Given the description of an element on the screen output the (x, y) to click on. 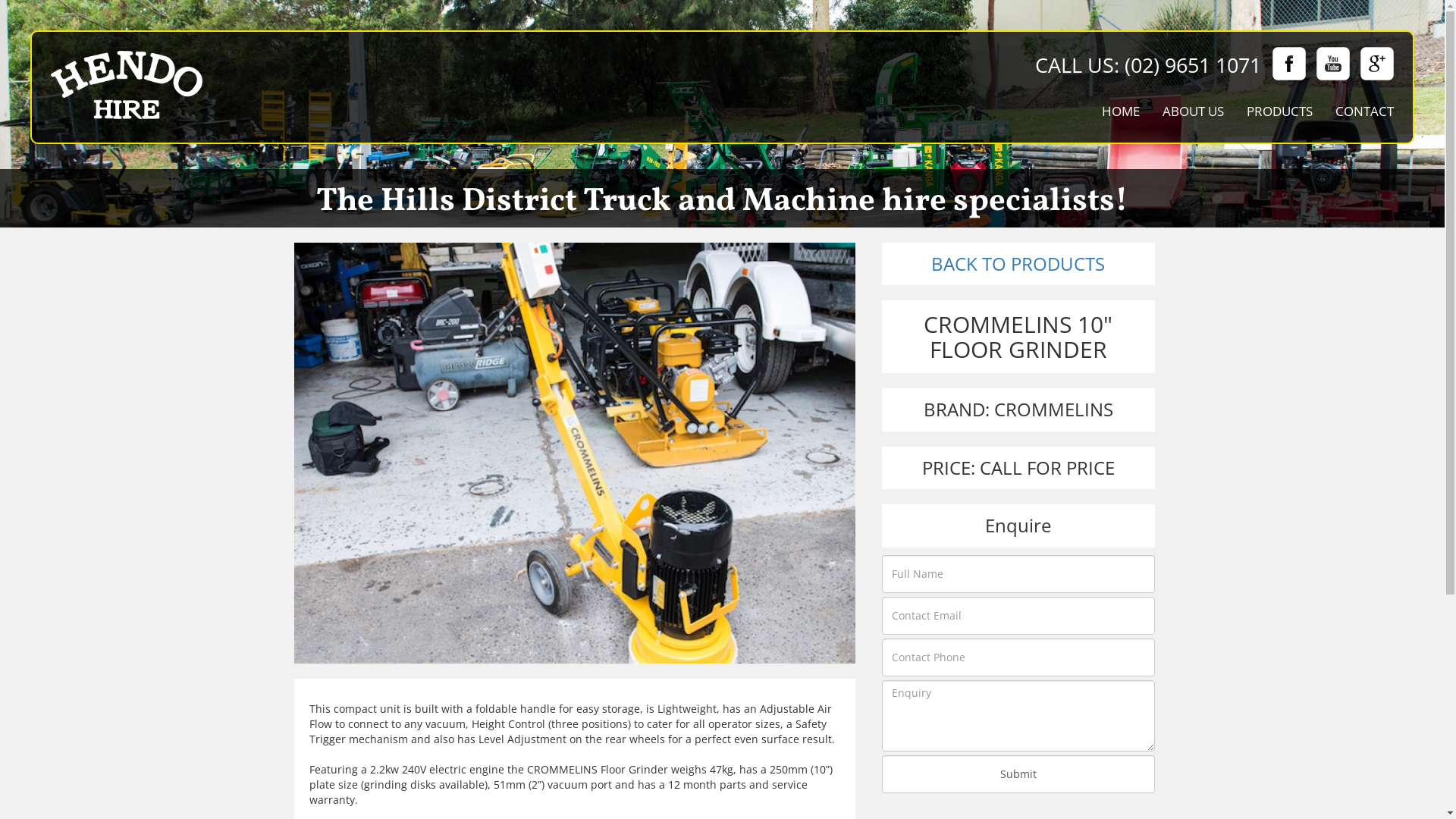
CONTACT Element type: text (1364, 110)
BACK TO PRODUCTS Element type: text (1017, 263)
PRODUCTS Element type: text (1279, 110)
ABOUT US Element type: text (1193, 110)
HOME Element type: text (1120, 110)
